Given the description of an element on the screen output the (x, y) to click on. 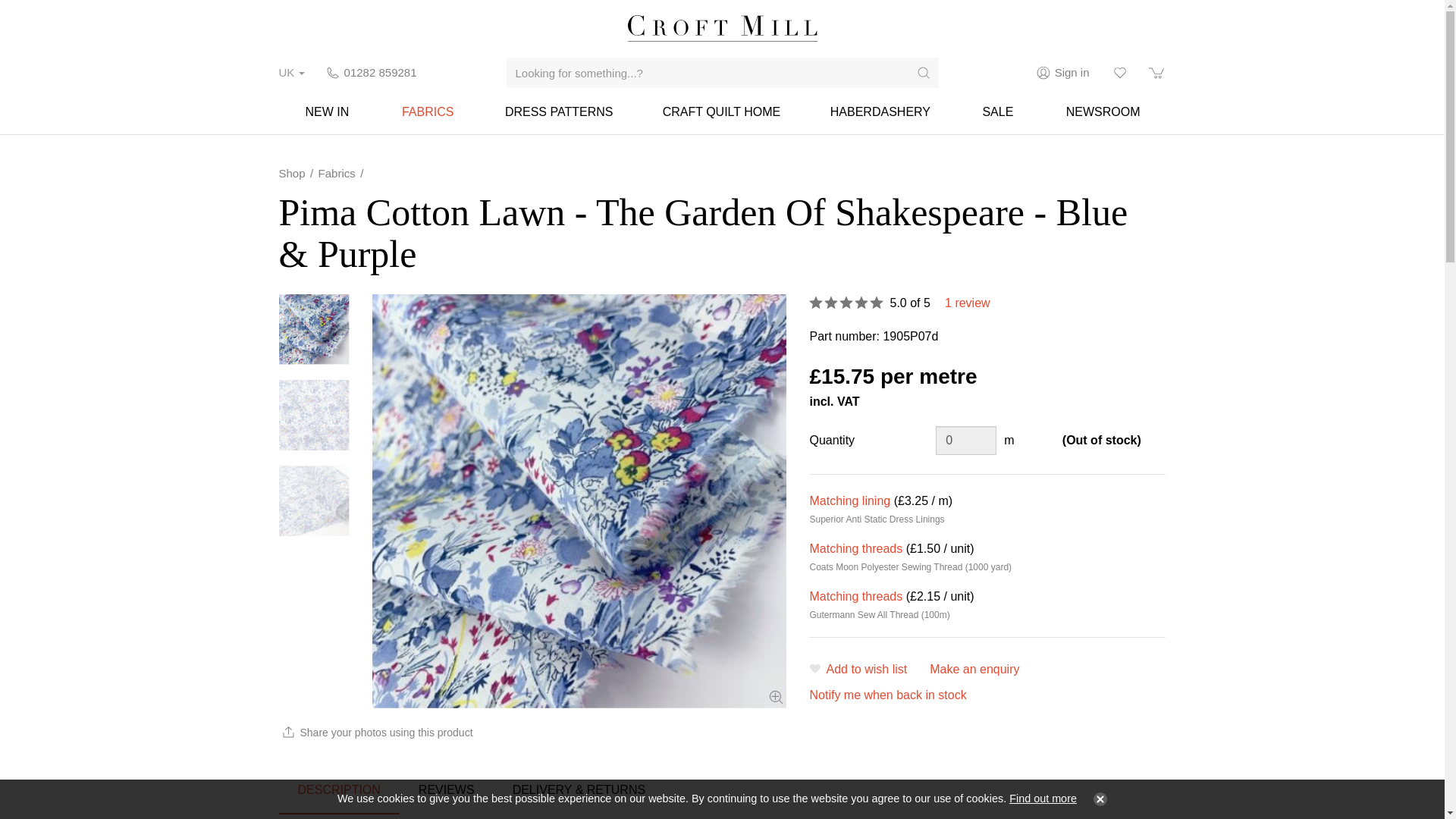
Wish list (1118, 72)
01282 859281 (371, 72)
Excellent (846, 302)
FABRICS (427, 111)
Sign in (1062, 72)
Search (923, 72)
Croft Mill newsroom (1103, 111)
Fabric for craft, bag making, quilting and the home (721, 111)
NEW IN (327, 111)
